Given the description of an element on the screen output the (x, y) to click on. 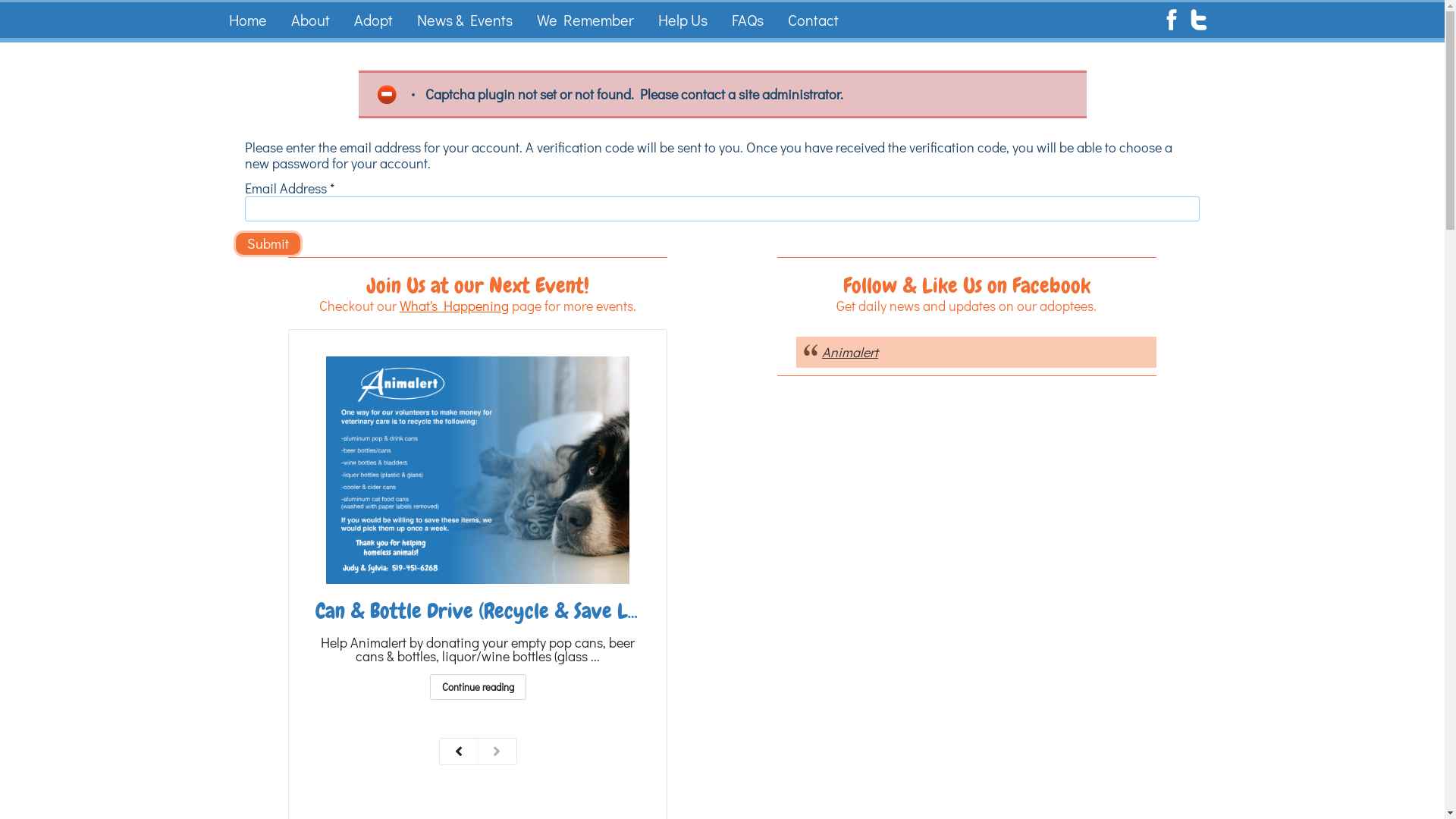
What's Happening Element type: text (453, 305)
Adopt Element type: text (373, 19)
Animalert Element type: text (850, 351)
About Element type: text (309, 19)
Can & Bottle Drive (Recycle & Save Lives) Element type: text (490, 610)
FAQs Element type: text (747, 19)
Submit Element type: text (267, 243)
We Remember Element type: text (584, 19)
Contact Element type: text (813, 19)
News & Events Element type: text (463, 19)
Home Element type: text (246, 19)
Continue reading Element type: text (477, 686)
Help Us Element type: text (682, 19)
